Given the description of an element on the screen output the (x, y) to click on. 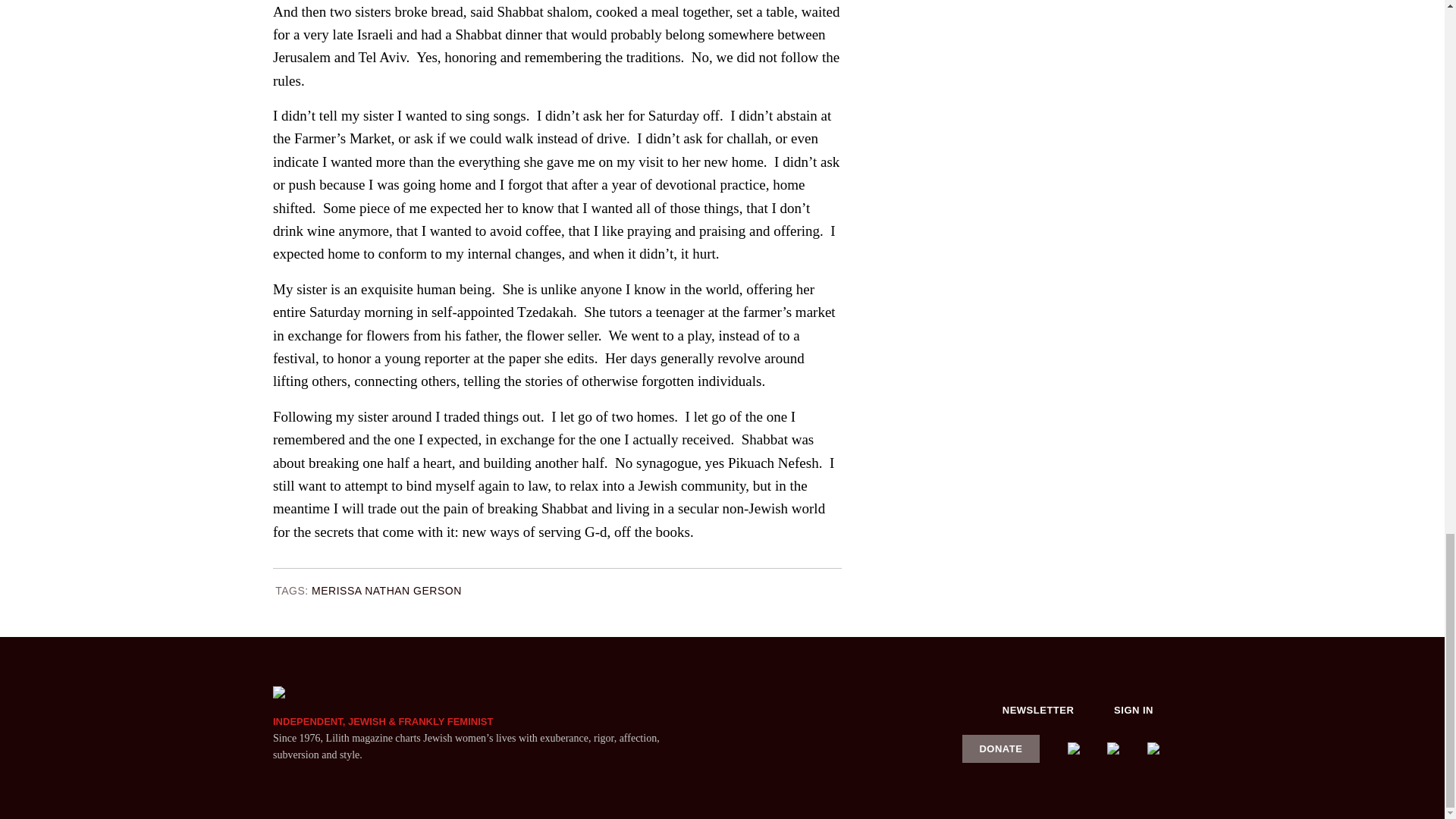
MERISSA NATHAN GERSON (386, 590)
DONATE (1000, 748)
SIGN IN (1134, 710)
NEWSLETTER (1038, 710)
